Given the description of an element on the screen output the (x, y) to click on. 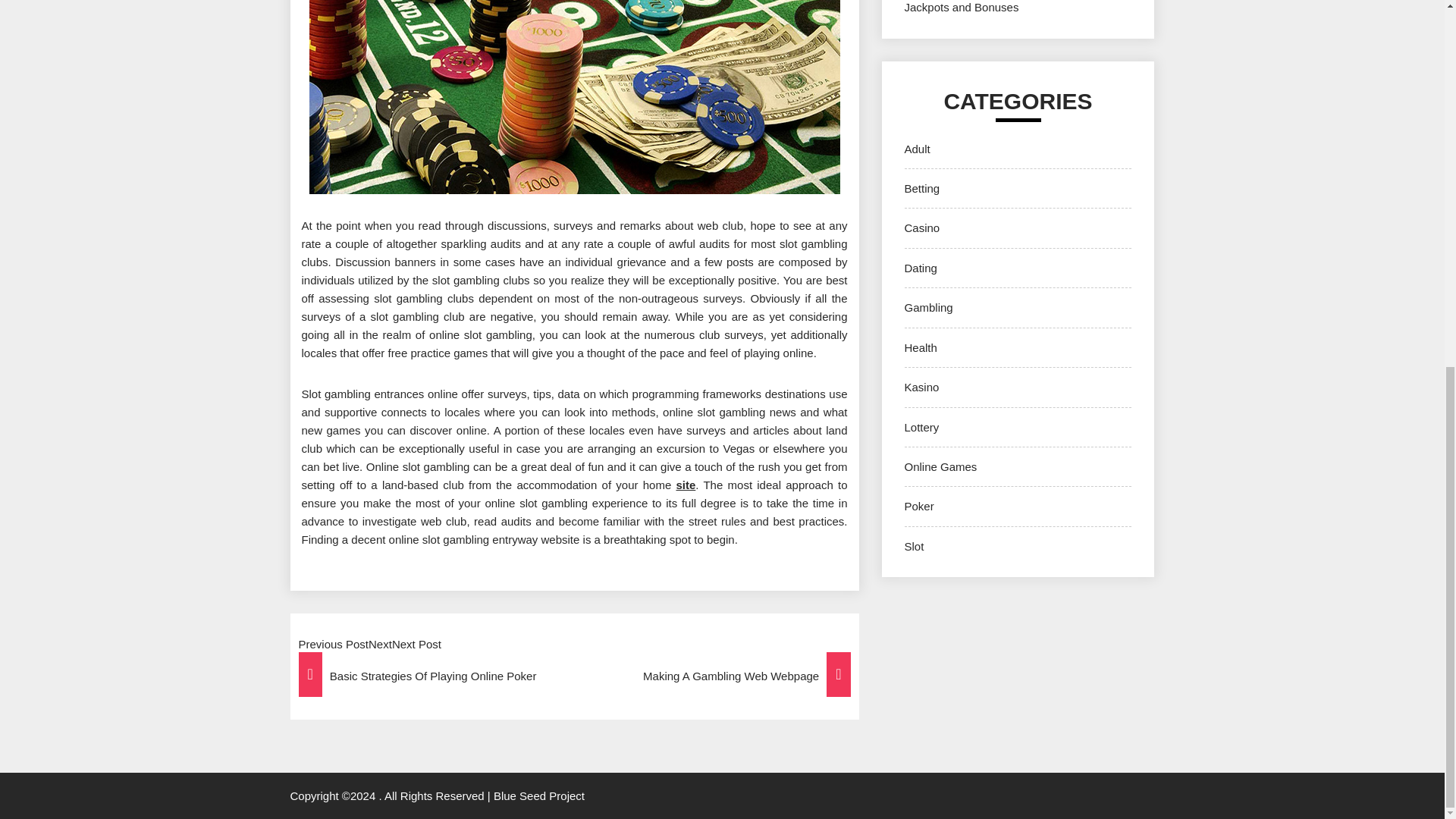
Lottery (921, 427)
Health (920, 347)
Poker (918, 505)
Dating (920, 267)
Online Games (940, 466)
Gambling (928, 307)
Adult (917, 148)
site (685, 484)
Betting (921, 187)
Kasino (921, 386)
Casino (921, 227)
Slot (913, 545)
